Given the description of an element on the screen output the (x, y) to click on. 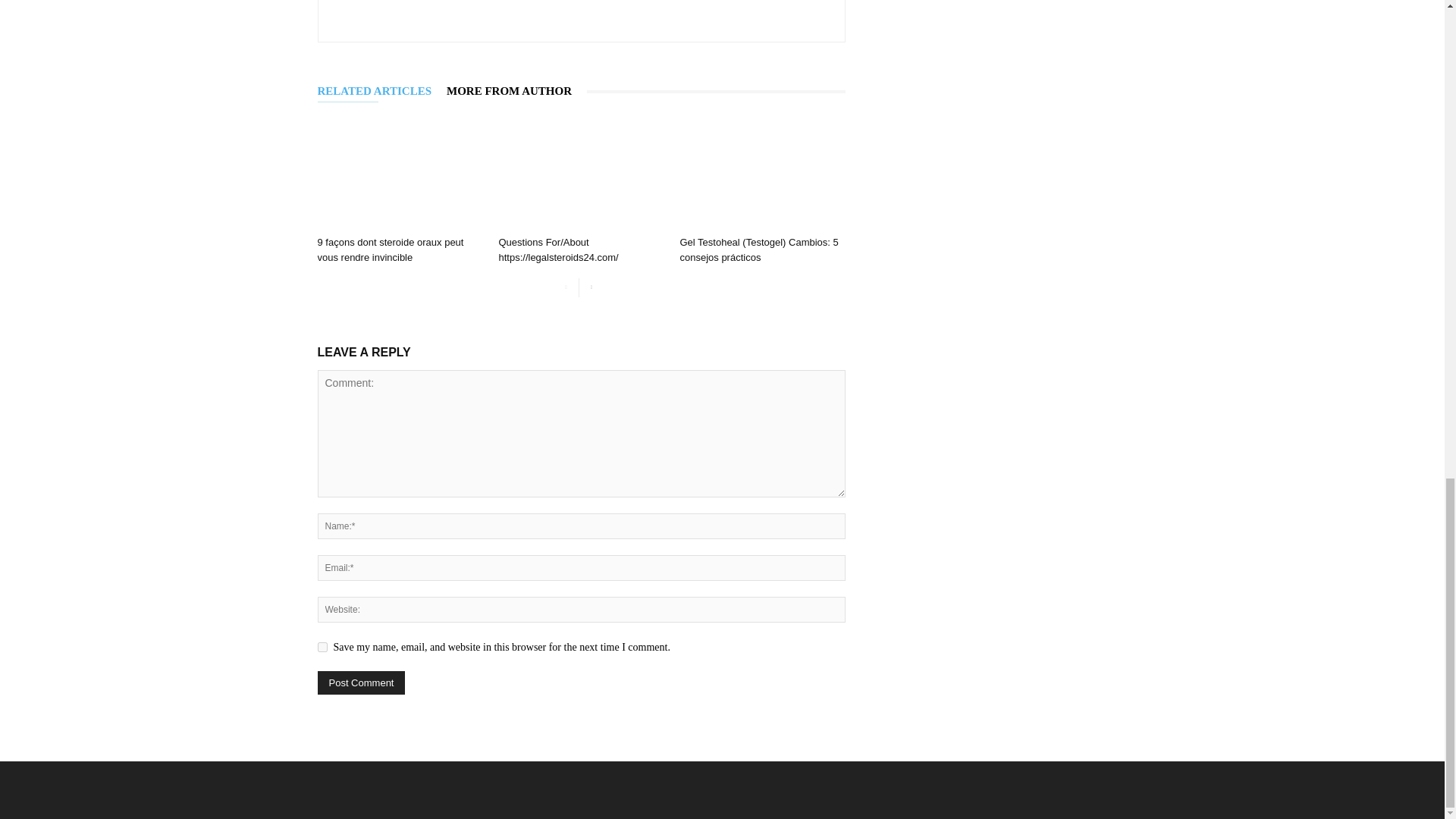
RELATED ARTICLES (381, 91)
yes (321, 646)
Post Comment (360, 682)
